Given the description of an element on the screen output the (x, y) to click on. 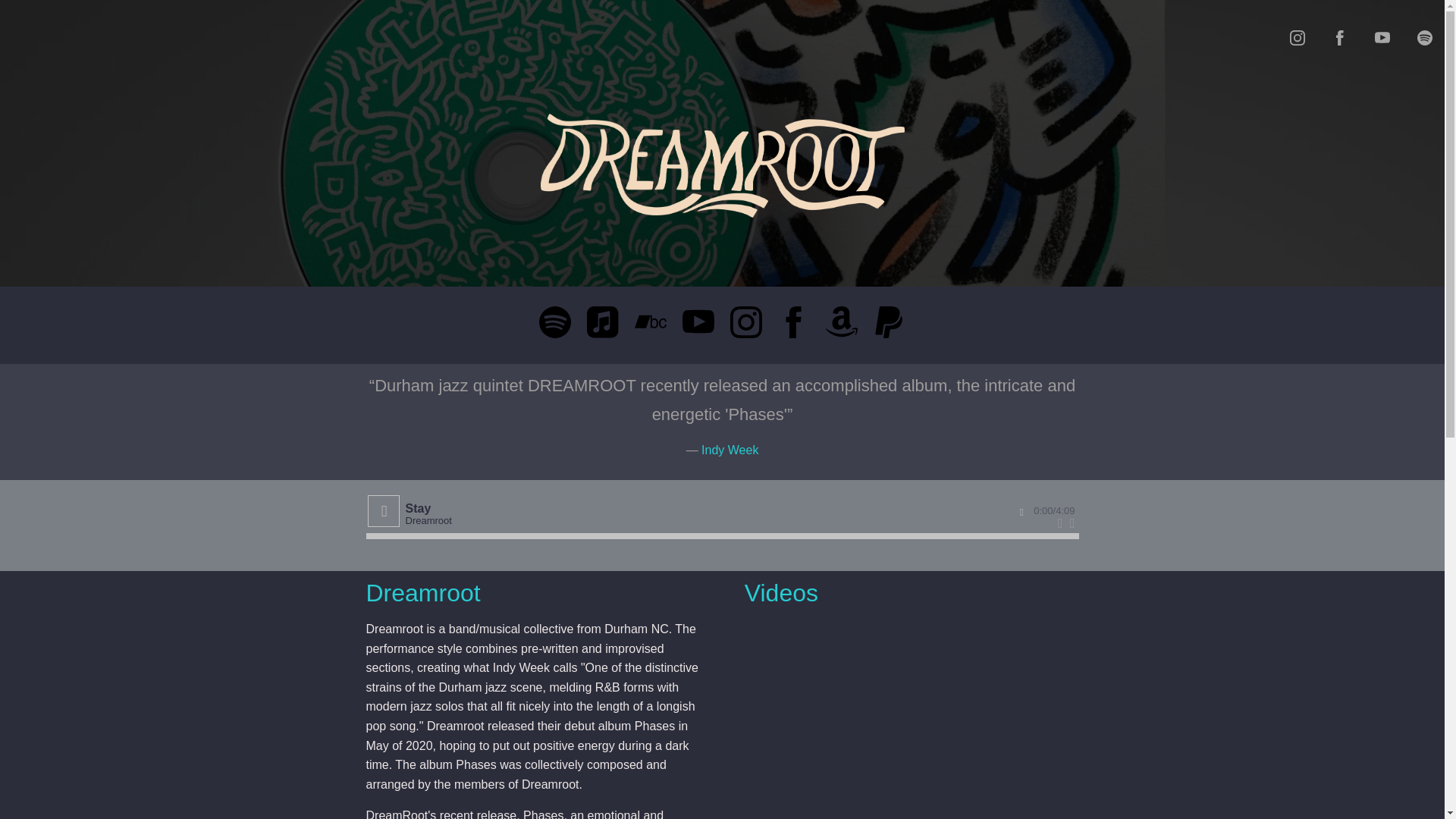
Indy Week (729, 449)
